Given the description of an element on the screen output the (x, y) to click on. 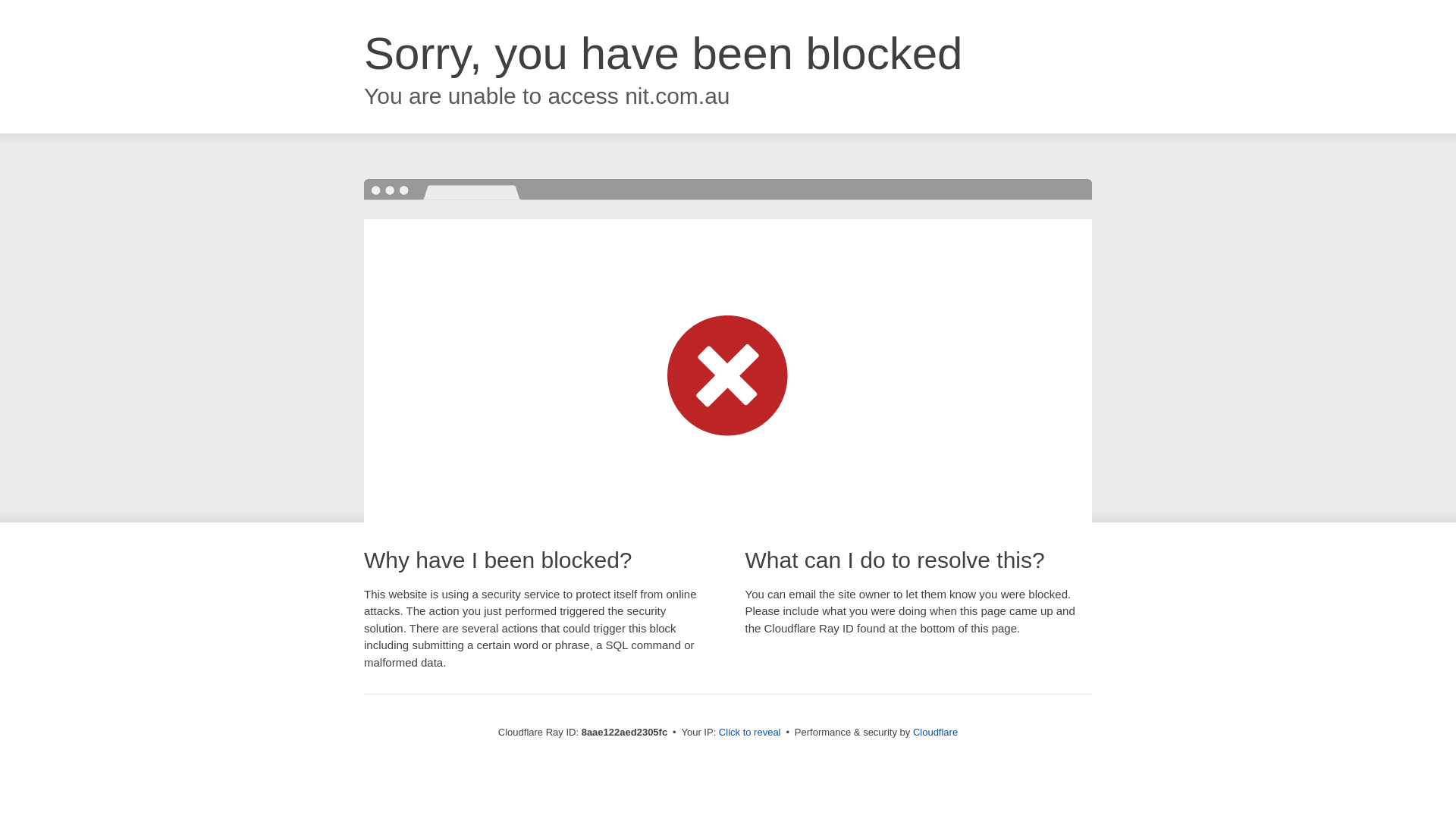
Cloudflare (935, 731)
Click to reveal (749, 732)
